Given the description of an element on the screen output the (x, y) to click on. 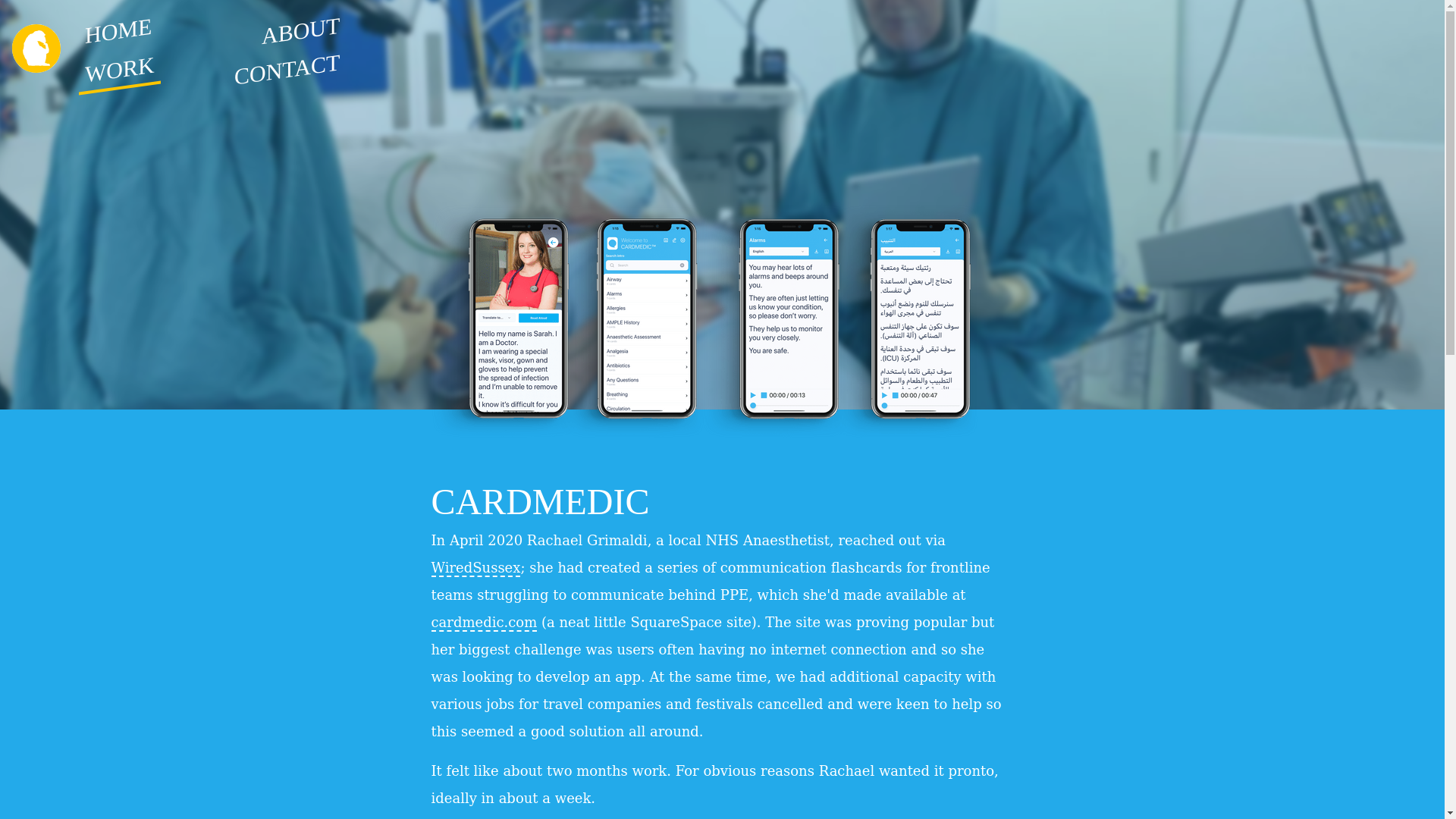
WORK (119, 64)
ABOUT (301, 25)
cardmedic.com (483, 622)
CONTACT (287, 61)
HOME (117, 25)
WiredSussex (474, 568)
Home (41, 50)
